Given the description of an element on the screen output the (x, y) to click on. 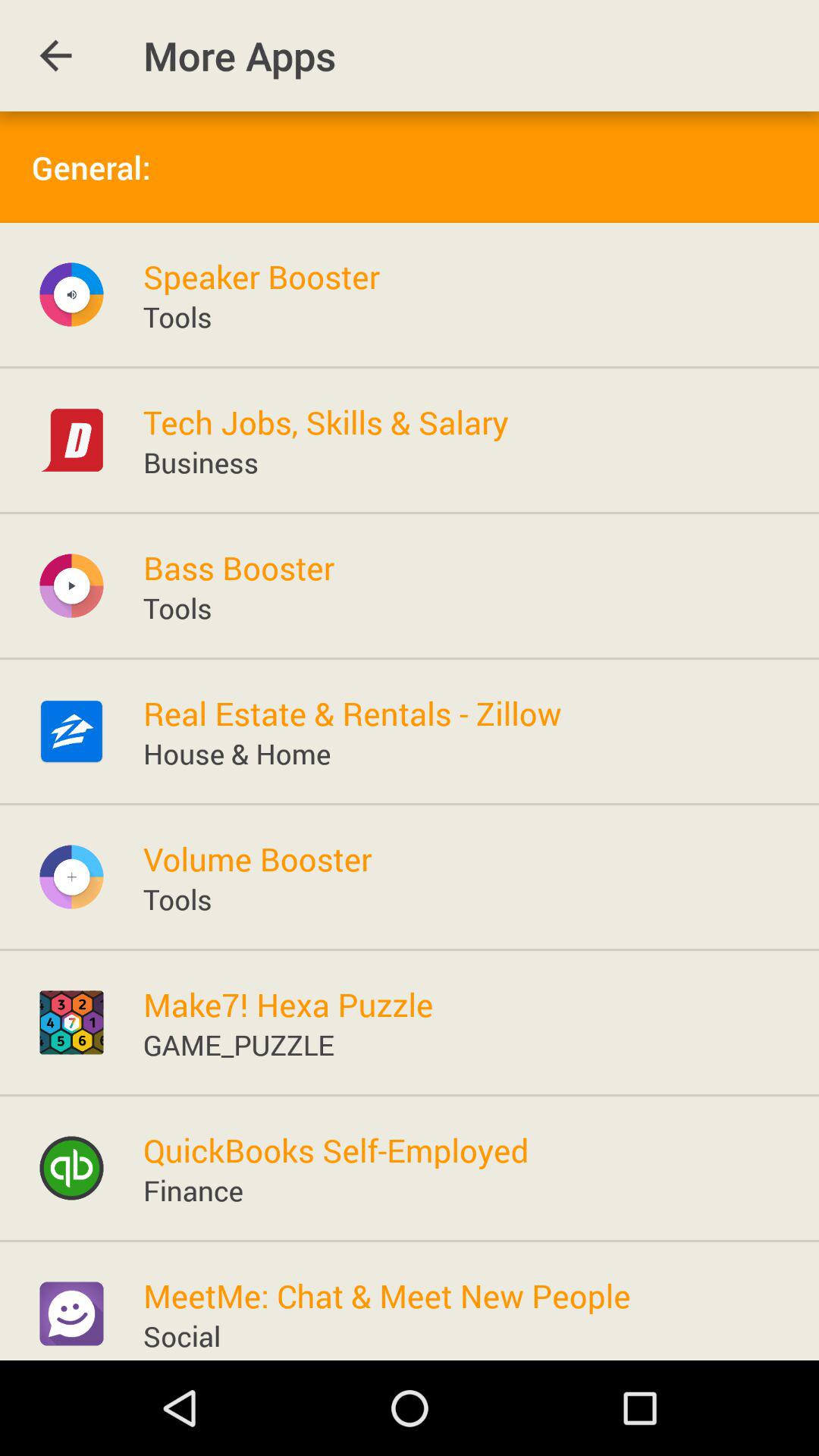
turn on the icon above the game_puzzle icon (288, 1004)
